Given the description of an element on the screen output the (x, y) to click on. 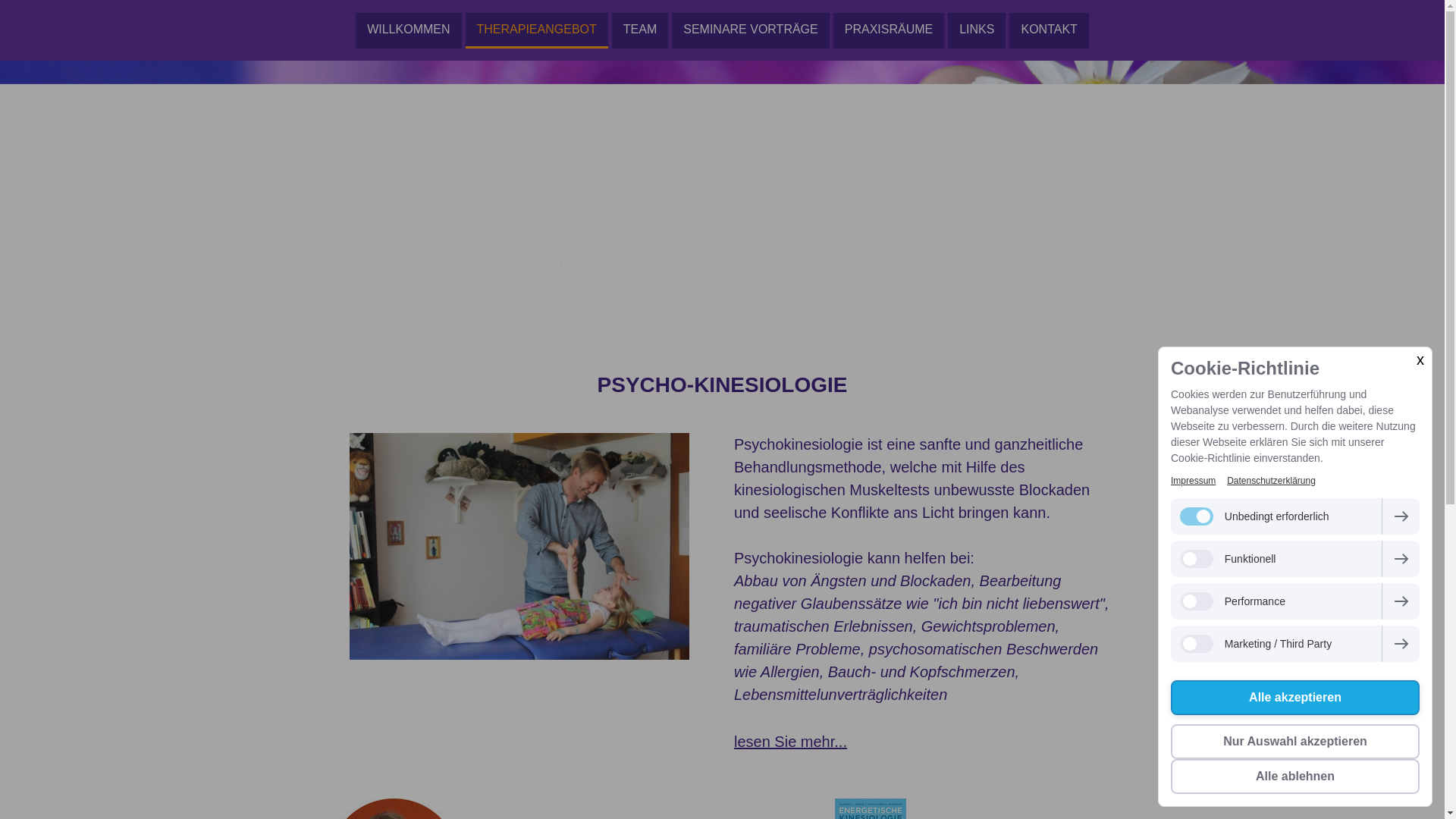
Nur Auswahl akzeptieren Element type: text (1294, 741)
THERAPIEANGEBOT Element type: text (536, 29)
WILLKOMMEN Element type: text (408, 29)
Kinesiologie Element type: text (438, 336)
Alle akzeptieren Element type: text (1294, 697)
Impressum Element type: text (1192, 480)
KONTAKT Element type: text (1048, 29)
lesen Sie mehr... Element type: text (790, 740)
LINKS Element type: text (976, 29)
Therapieangebot Element type: text (363, 336)
TEAM Element type: text (639, 29)
Alle ablehnen Element type: text (1294, 776)
